Given the description of an element on the screen output the (x, y) to click on. 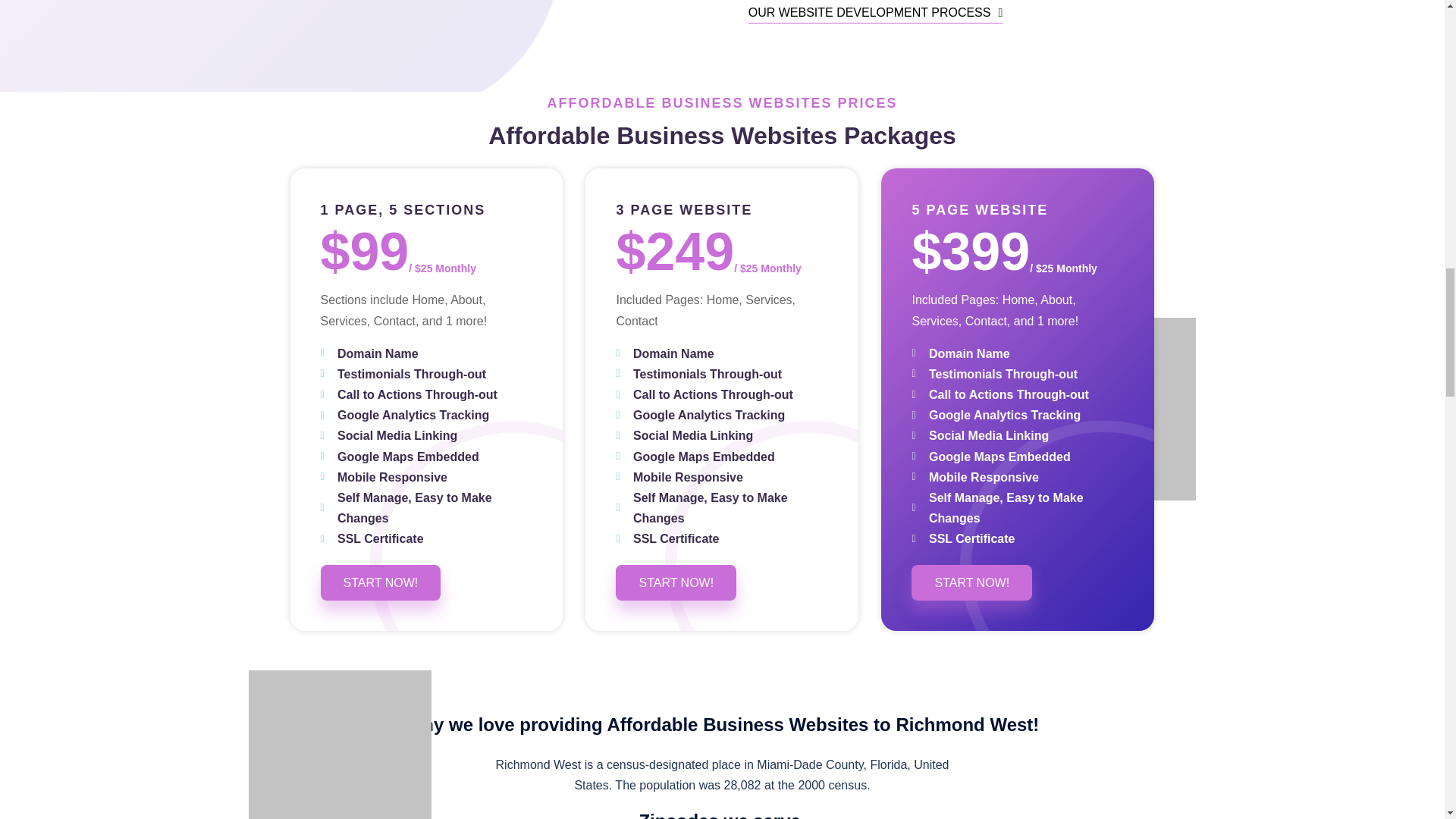
OUR WEBSITE DEVELOPMENT PROCESS (875, 12)
START NOW! (380, 582)
START NOW! (675, 582)
